Given the description of an element on the screen output the (x, y) to click on. 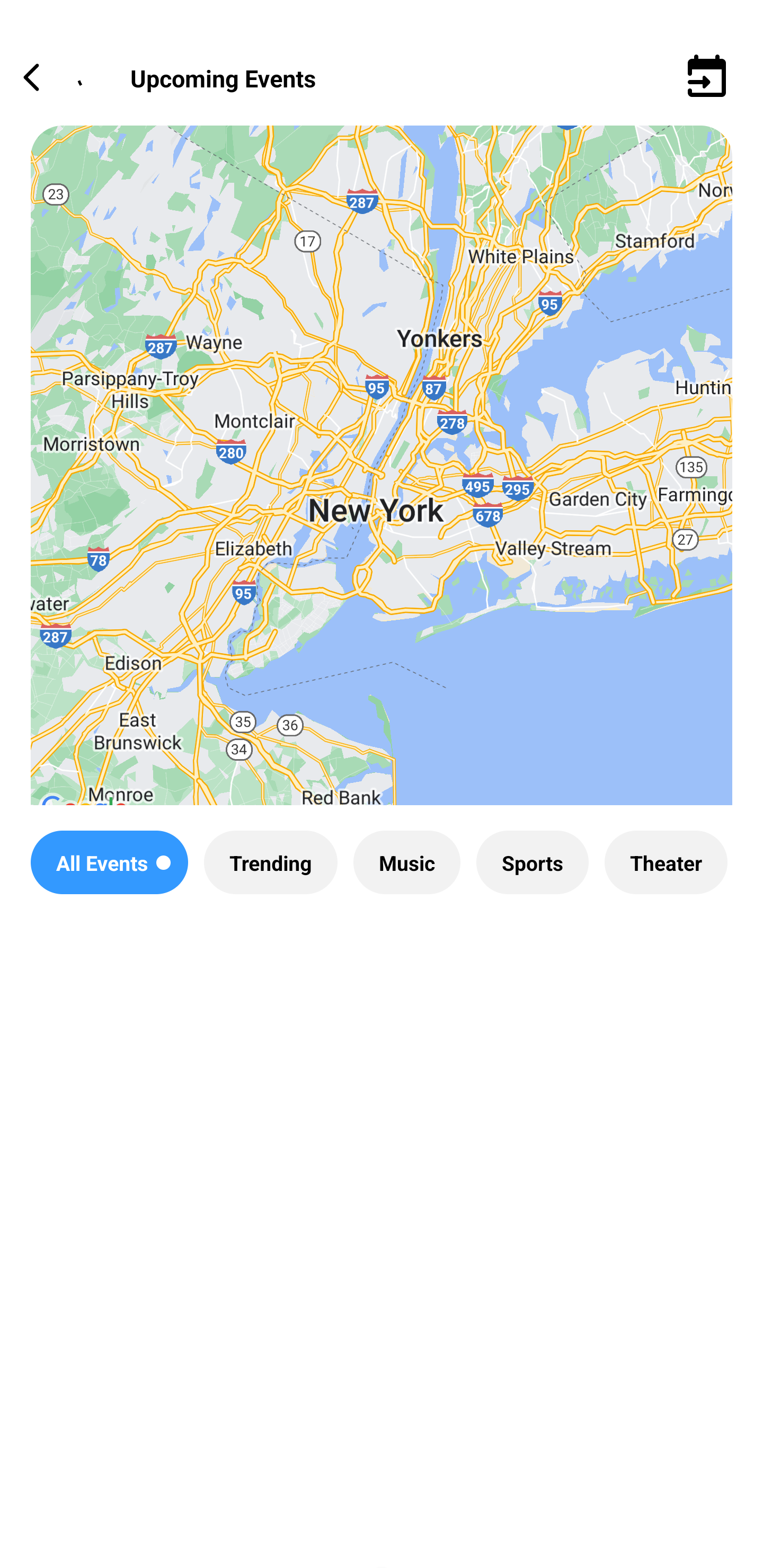
Google Map (381, 480)
All Events (109, 862)
Trending (270, 862)
Music (406, 862)
Sports (532, 862)
Theater (665, 862)
